Given the description of an element on the screen output the (x, y) to click on. 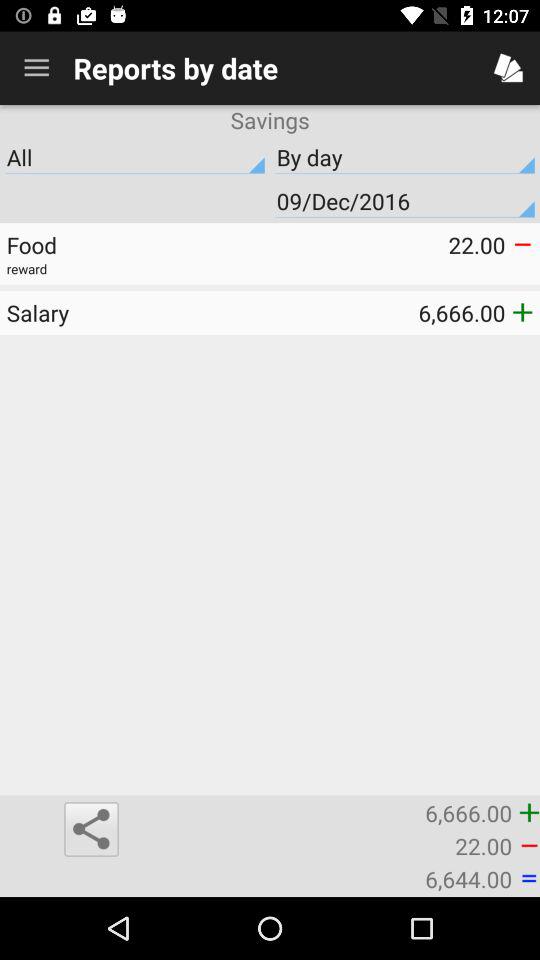
choose item above 6,666.00 (138, 312)
